Given the description of an element on the screen output the (x, y) to click on. 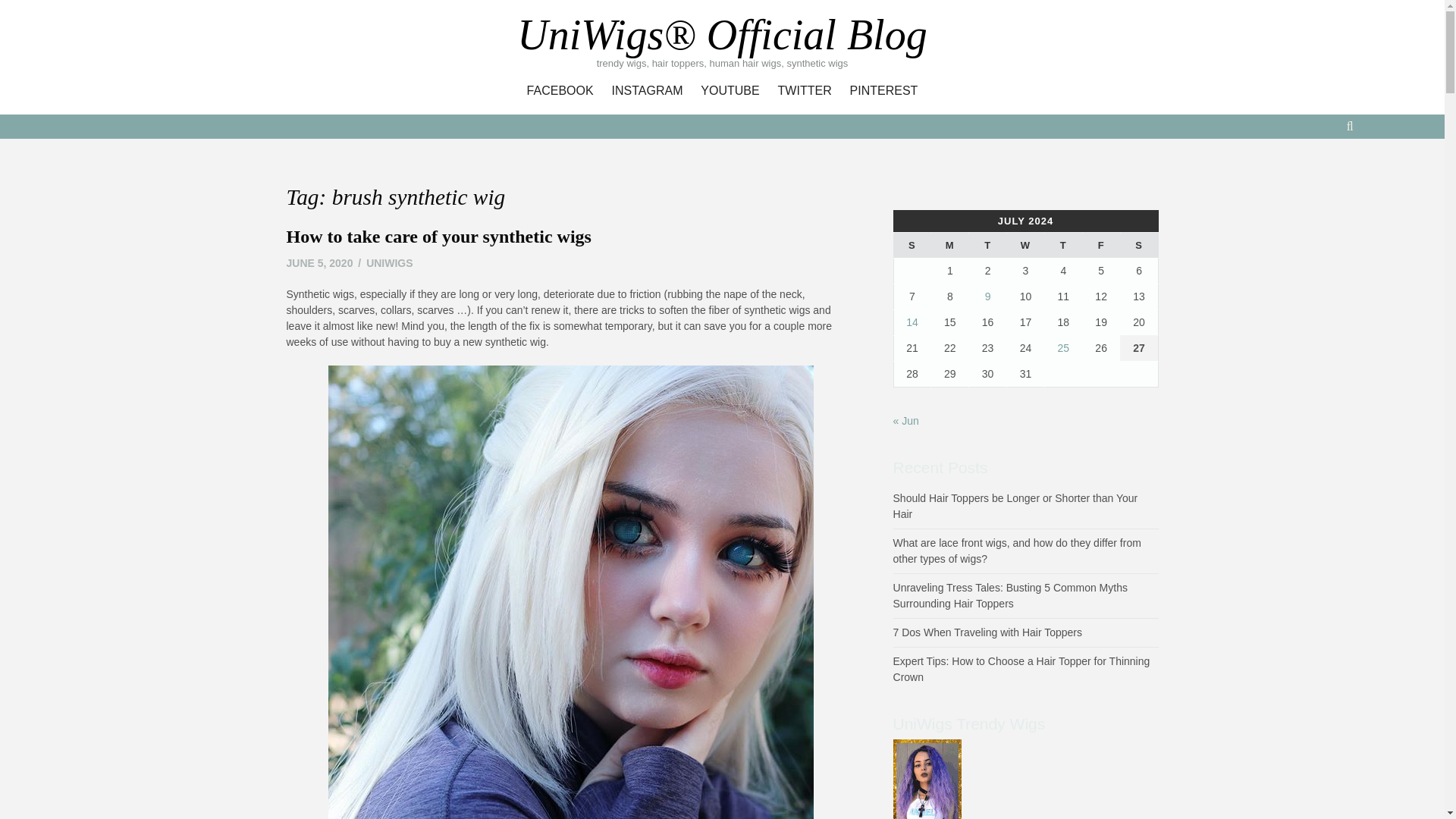
UniWigs Trendy Wigs (926, 806)
Thursday (1062, 245)
14 (911, 322)
Wednesday (1026, 245)
25 (1064, 347)
Search (730, 123)
Should Hair Toppers be Longer or Shorter than Your Hair (1015, 506)
Monday (950, 245)
7 Dos When Traveling with Hair Toppers (319, 263)
PINTEREST (988, 632)
YOUTUBE (884, 91)
Tuesday (730, 91)
How to take care of your synthetic wigs (988, 245)
